Given the description of an element on the screen output the (x, y) to click on. 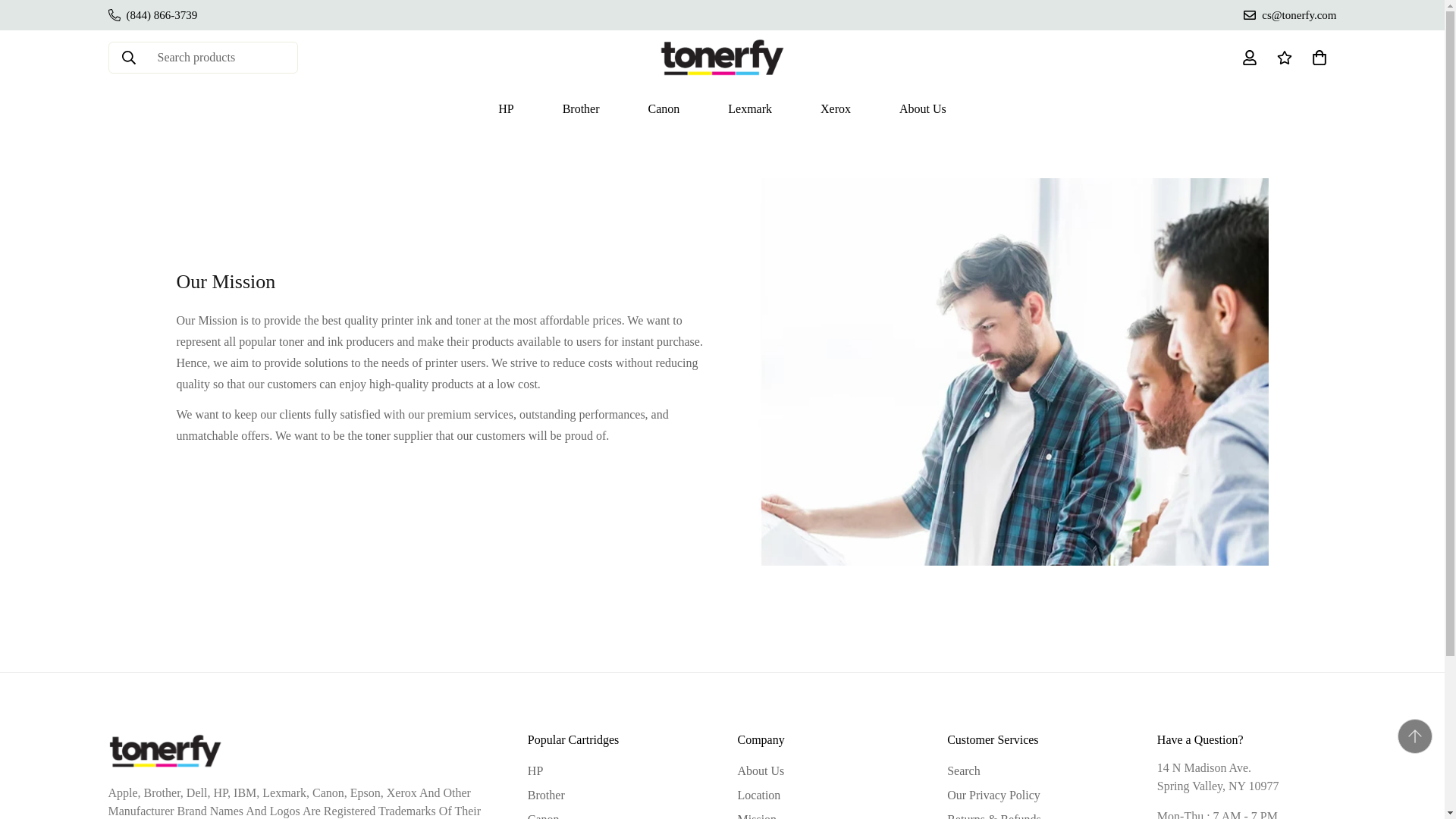
Tonerfy (721, 57)
Canon (543, 814)
Brother (545, 795)
HP (505, 108)
Brother (581, 108)
Xerox (722, 108)
Lexmark (835, 108)
Mission (722, 108)
